Given the description of an element on the screen output the (x, y) to click on. 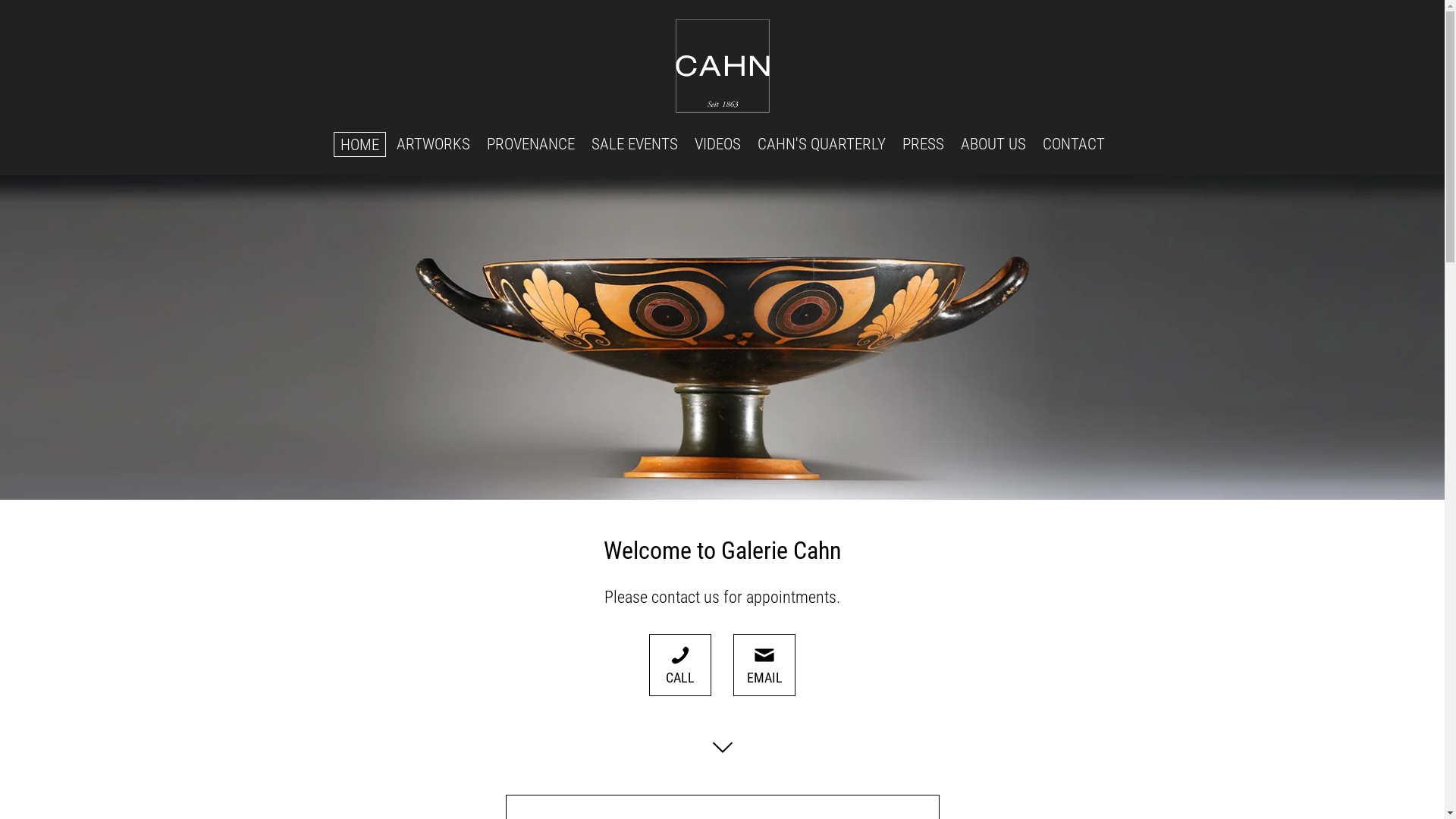
SALE EVENTS Element type: text (634, 143)
ARTWORKS Element type: text (433, 143)
HOME Element type: text (359, 143)
VIDEOS Element type: text (717, 143)
PROVENANCE Element type: text (530, 143)
CAHN'S QUARTERLY Element type: text (821, 143)
ABOUT US Element type: text (993, 143)
EMAIL Element type: text (764, 664)
PRESS Element type: text (923, 143)
CALL Element type: text (680, 664)
CONTACT Element type: text (1073, 143)
